Given the description of an element on the screen output the (x, y) to click on. 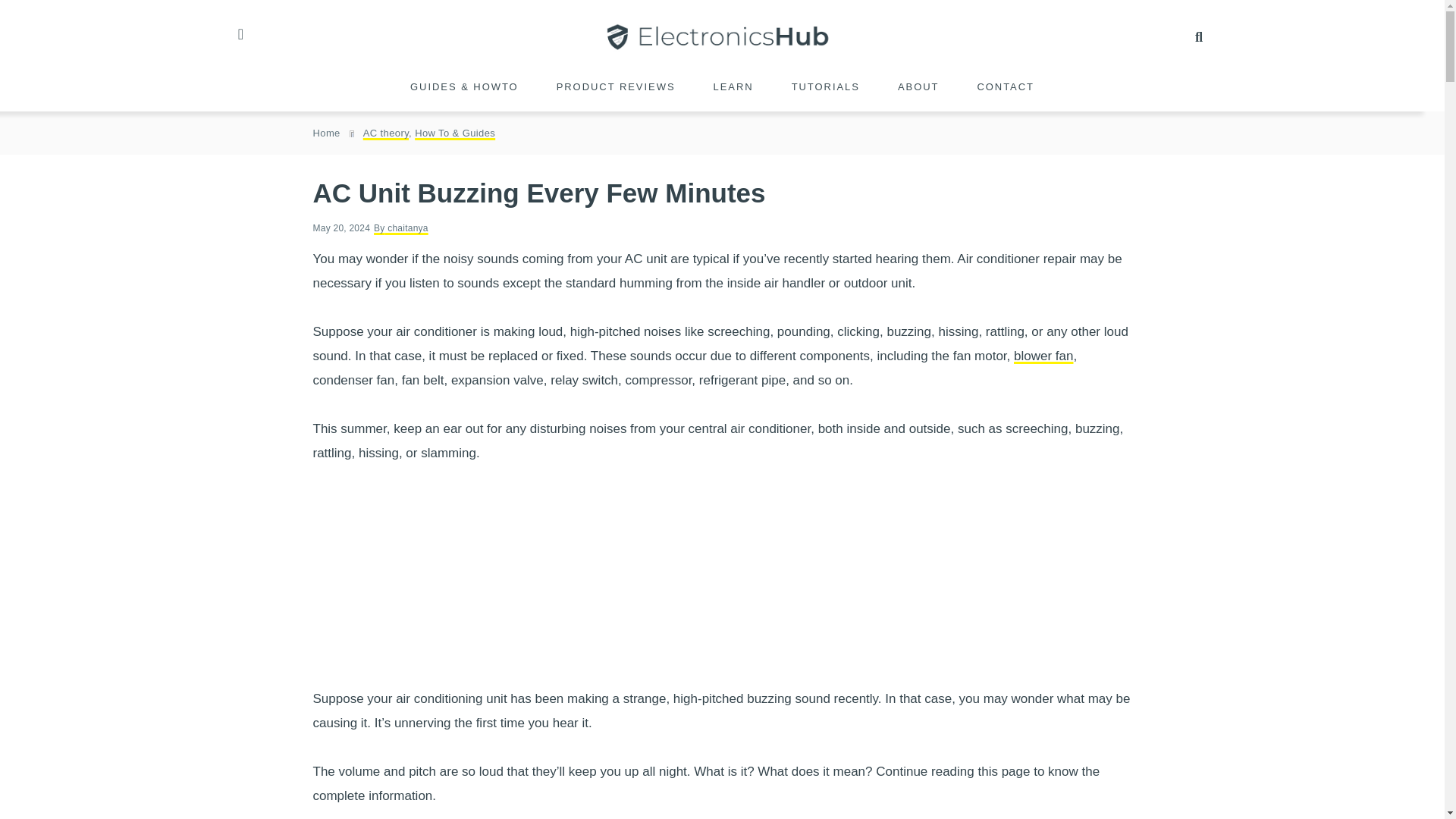
CONTACT (1004, 86)
PRODUCT REVIEWS (615, 86)
By chaitanya (401, 228)
LEARN (733, 86)
blower fan (1043, 355)
TUTORIALS (825, 86)
Home (326, 132)
ABOUT (918, 86)
AC theory (385, 132)
